Given the description of an element on the screen output the (x, y) to click on. 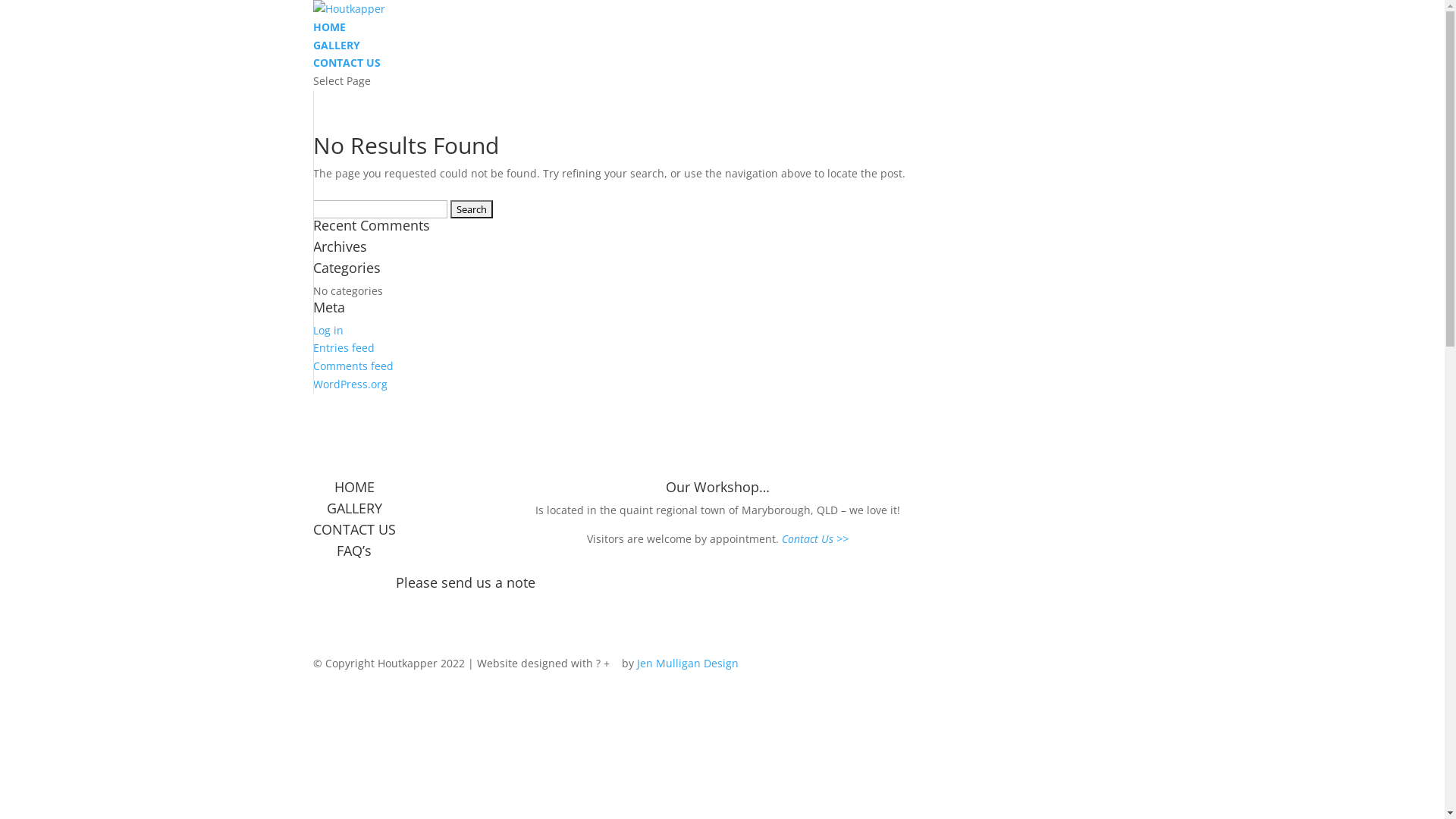
HOME Element type: text (353, 486)
CONTACT US Element type: text (353, 529)
Comments feed Element type: text (352, 365)
Log in Element type: text (327, 330)
Entries feed Element type: text (342, 347)
CONTACT US Element type: text (345, 62)
GALLERY Element type: text (335, 44)
Contact Us >> Element type: text (814, 538)
Search Element type: text (471, 209)
Jen Mulligan Design Element type: text (687, 662)
GALLERY Element type: text (353, 507)
HOME Element type: text (328, 26)
WordPress.org Element type: text (349, 383)
